Given the description of an element on the screen output the (x, y) to click on. 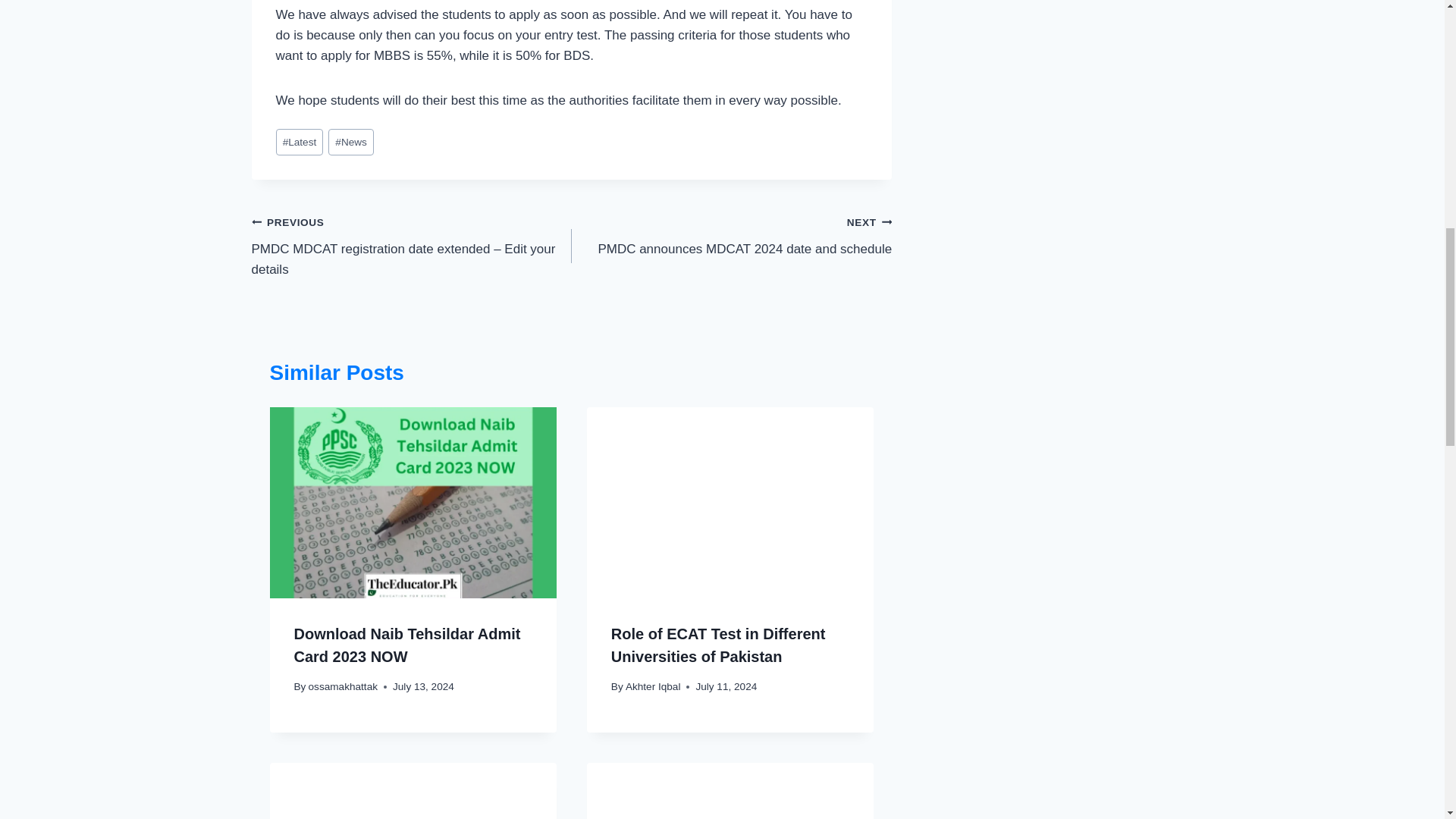
News (351, 141)
Latest (299, 141)
